Given the description of an element on the screen output the (x, y) to click on. 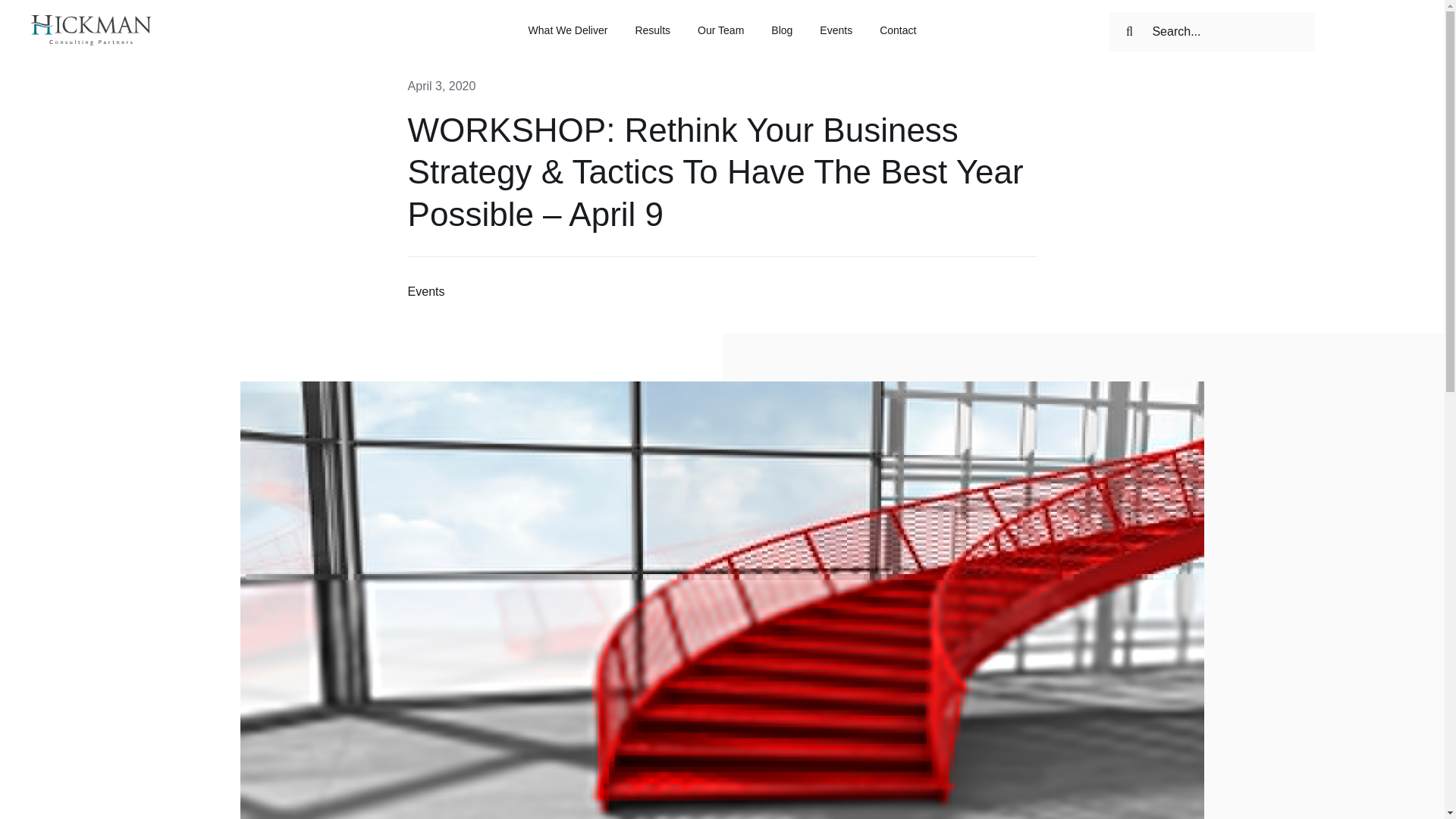
What We Deliver (568, 31)
Events (426, 291)
Events (426, 291)
